Given the description of an element on the screen output the (x, y) to click on. 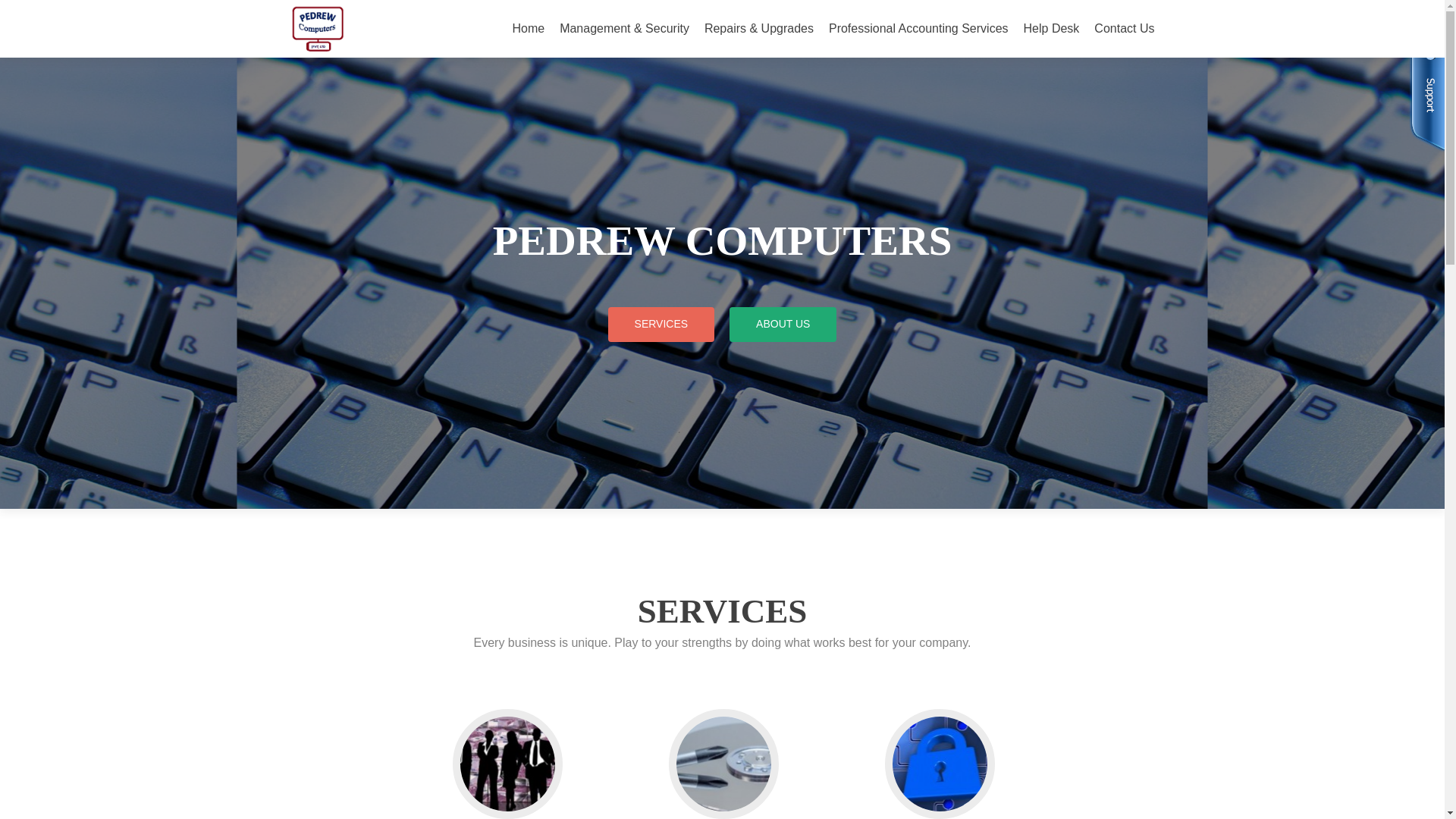
ABOUT US (782, 324)
Professional Accounting Services (918, 28)
Help Desk (1051, 28)
Contact Us (1124, 28)
Home (528, 28)
SERVICES (661, 324)
